Given the description of an element on the screen output the (x, y) to click on. 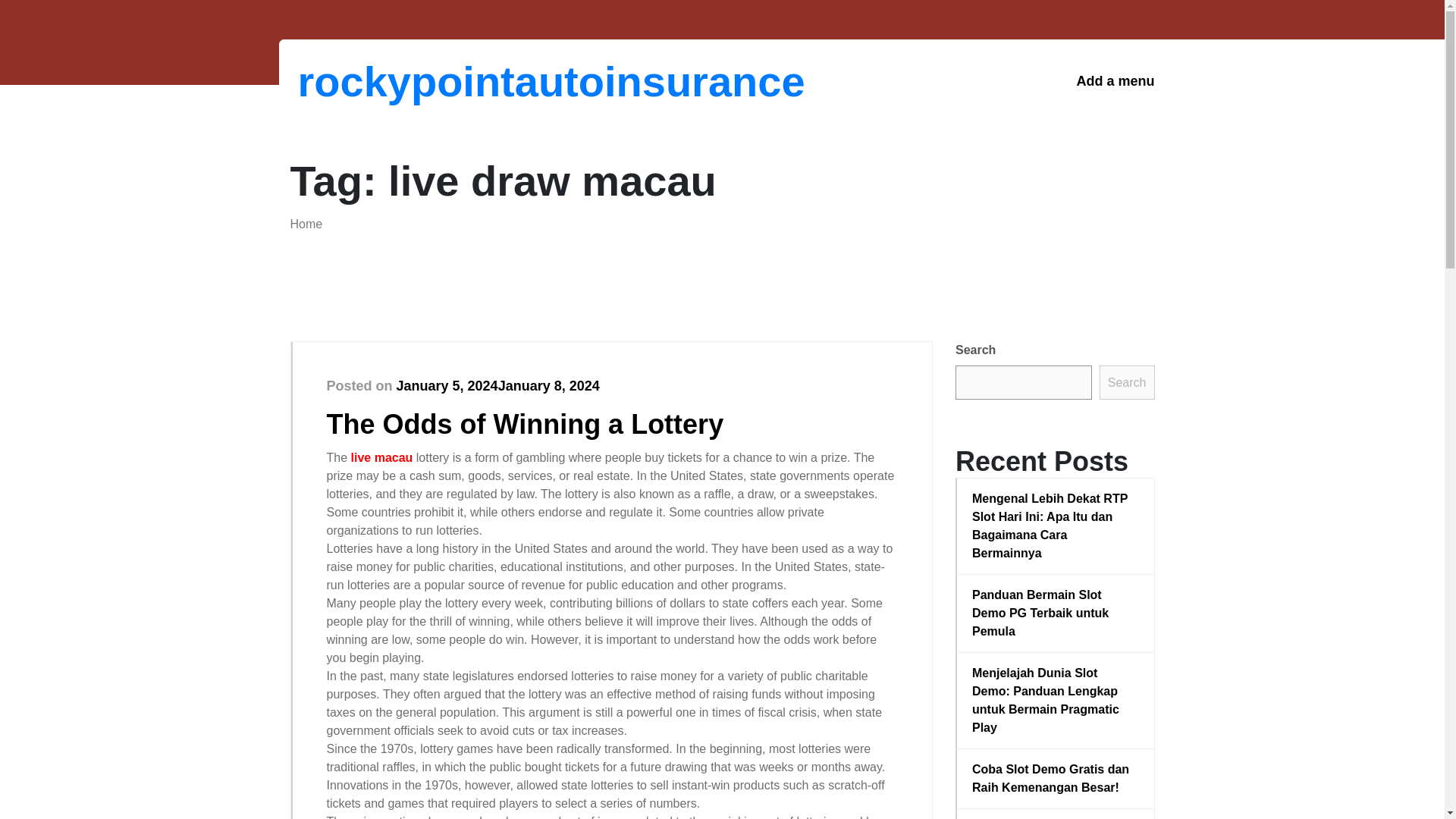
Panduan Bermain Slot Demo PG Terbaik untuk Pemula (1055, 613)
Coba Slot Demo Gratis dan Raih Kemenangan Besar! (1055, 778)
January 5, 2024January 8, 2024 (497, 385)
The Odds of Winning a Lottery (524, 423)
Search (1126, 382)
rockypointautoinsurance (376, 81)
Home (305, 223)
live macau (381, 457)
Add a menu (1114, 81)
